Given the description of an element on the screen output the (x, y) to click on. 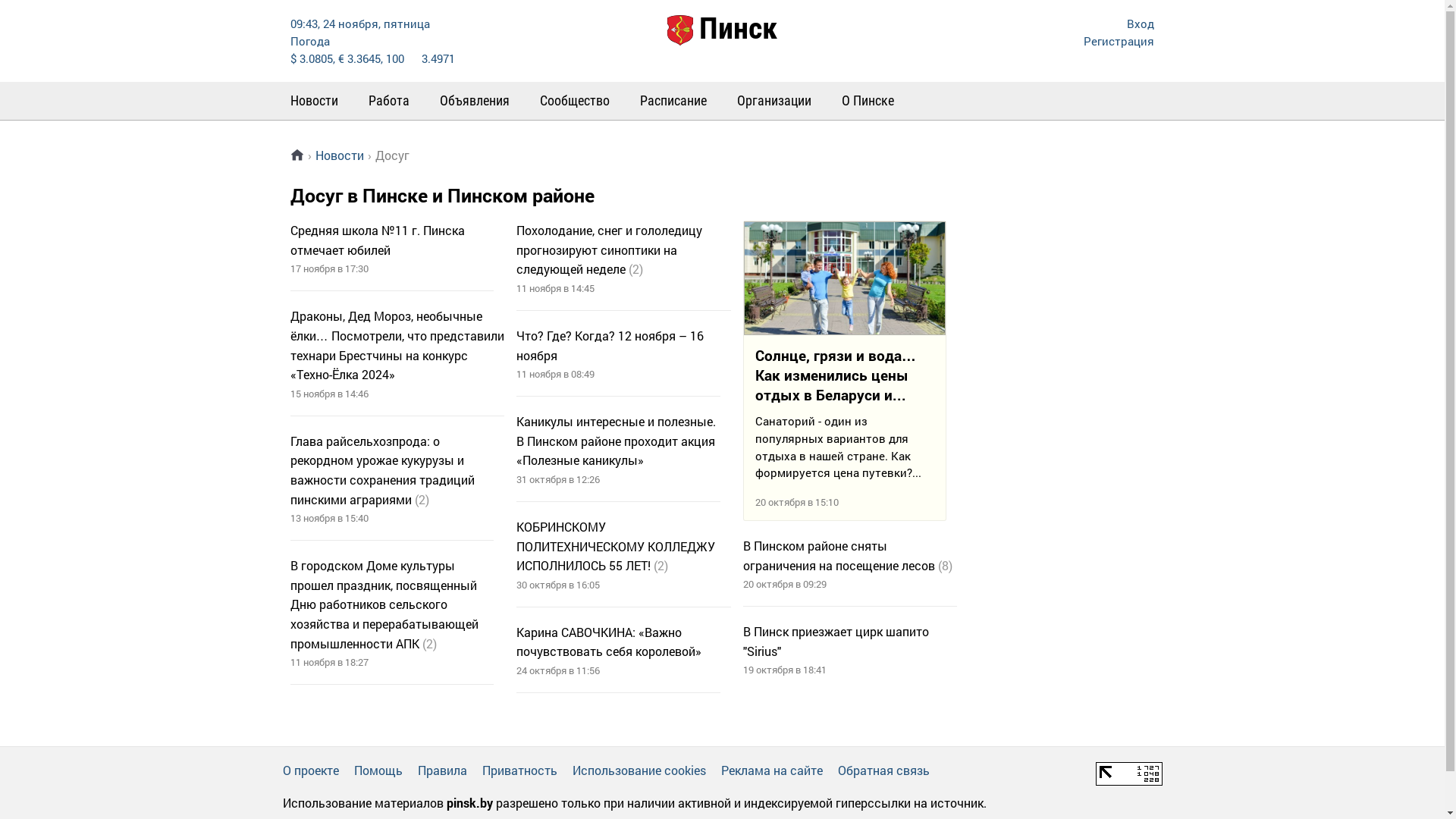
Advertisement Element type: hover (1055, 381)
